Given the description of an element on the screen output the (x, y) to click on. 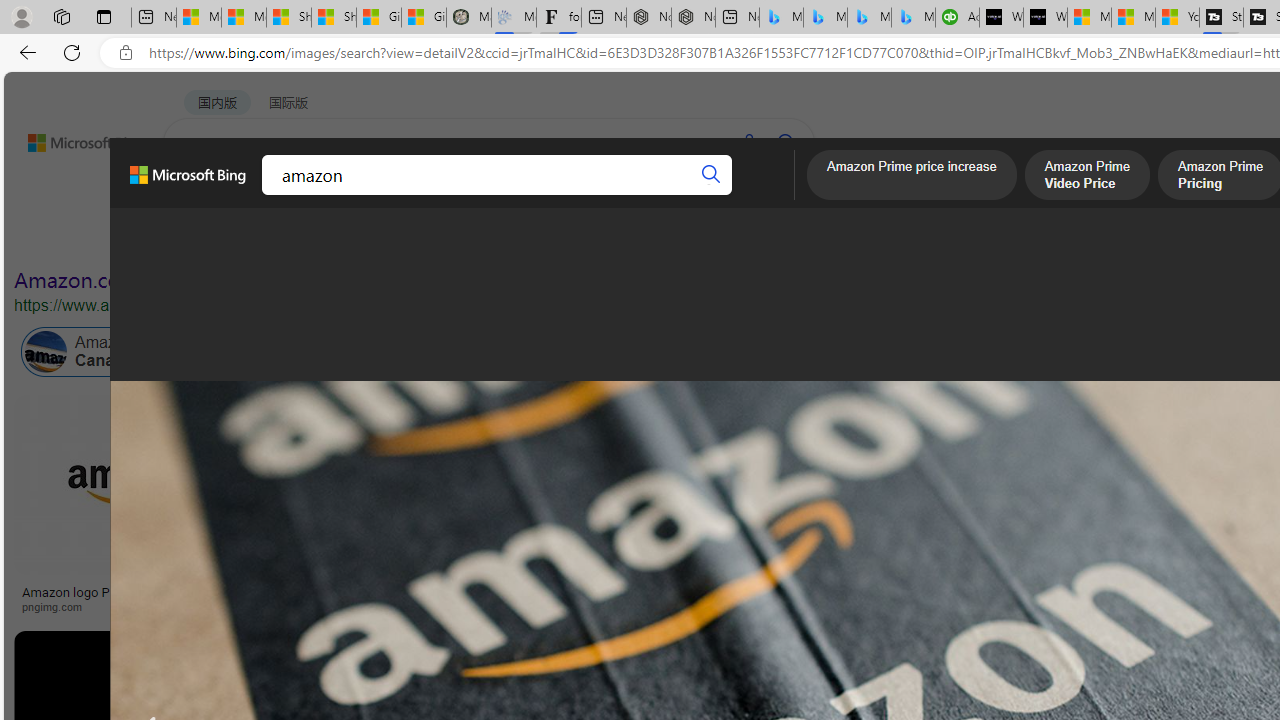
ACADEMIC (548, 195)
WEB (201, 195)
DICT (630, 195)
Amazon Echo Dot 4th Gen (1183, 465)
Amazon India (893, 351)
Back to Bing search (73, 138)
Amazon Kids (464, 351)
Accounting Software for Accountants, CPAs and Bookkeepers (957, 17)
aiophotoz.com (941, 605)
Amazon Labor Law Violation in California (993, 351)
